Given the description of an element on the screen output the (x, y) to click on. 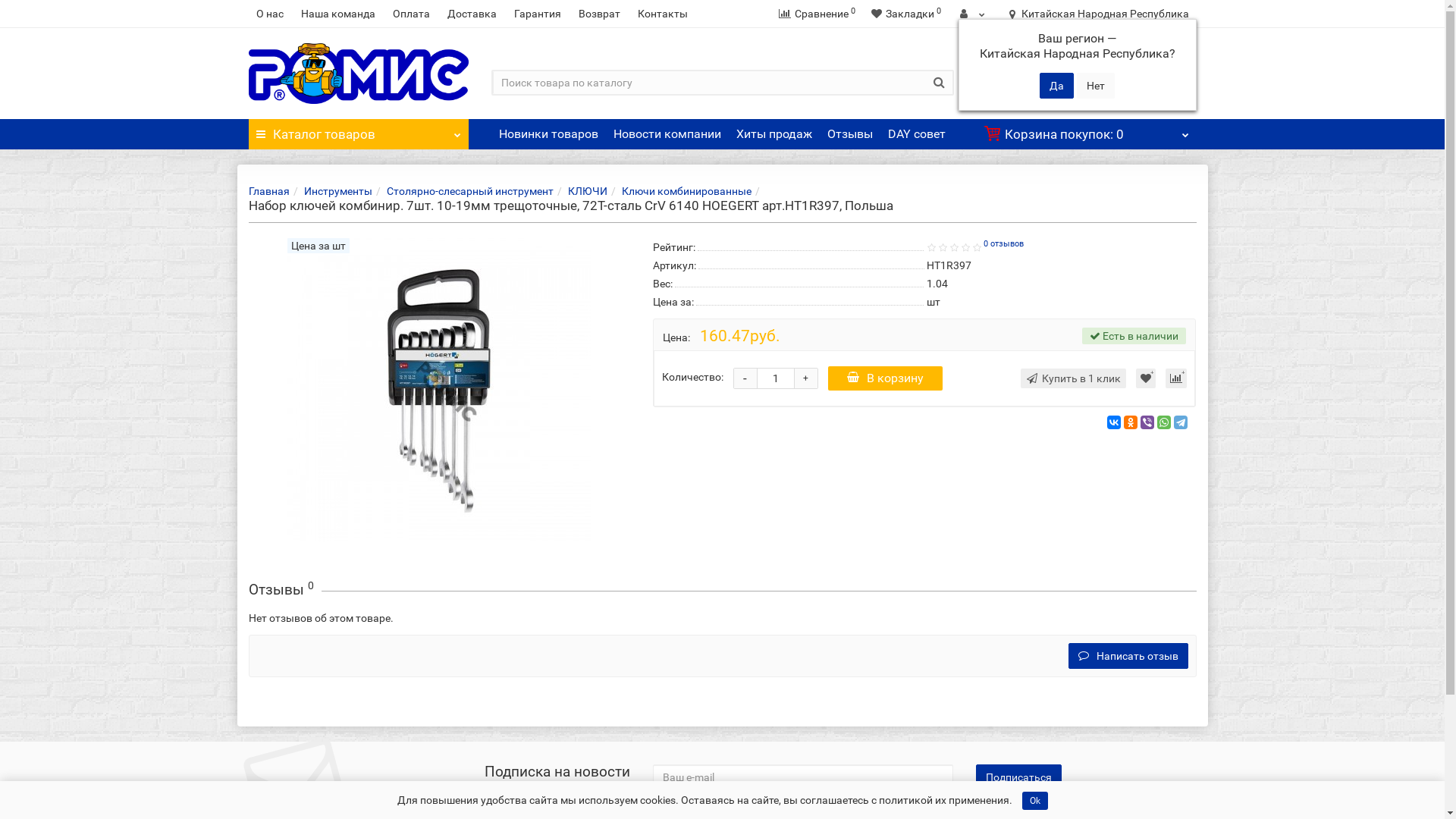
Viber Element type: hover (1147, 422)
Telegram Element type: hover (1180, 422)
- Element type: text (745, 378)
+ Element type: text (805, 378)
Ok Element type: text (1035, 800)
+375 (29) 764-33-33 Element type: text (1108, 92)
WhatsApp Element type: hover (1163, 422)
